Given the description of an element on the screen output the (x, y) to click on. 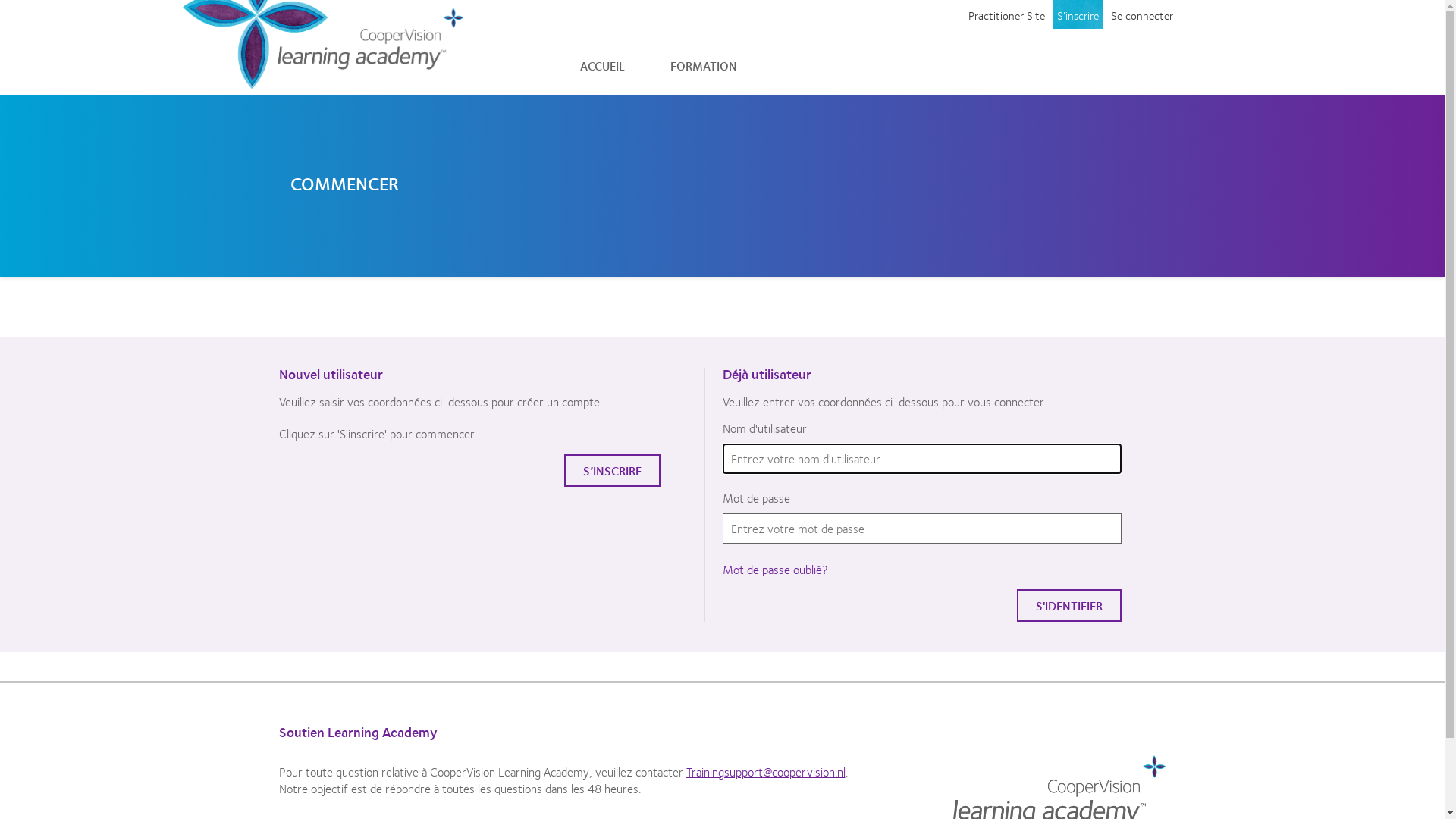
Trainingsupport@coopervision.nl Element type: text (764, 771)
ACCUEIL Element type: text (602, 65)
S'IDENTIFIER Element type: text (1068, 605)
Se connecter Element type: text (1140, 15)
Practitioner Site Element type: text (1005, 15)
FORMATION Element type: text (703, 65)
